Given the description of an element on the screen output the (x, y) to click on. 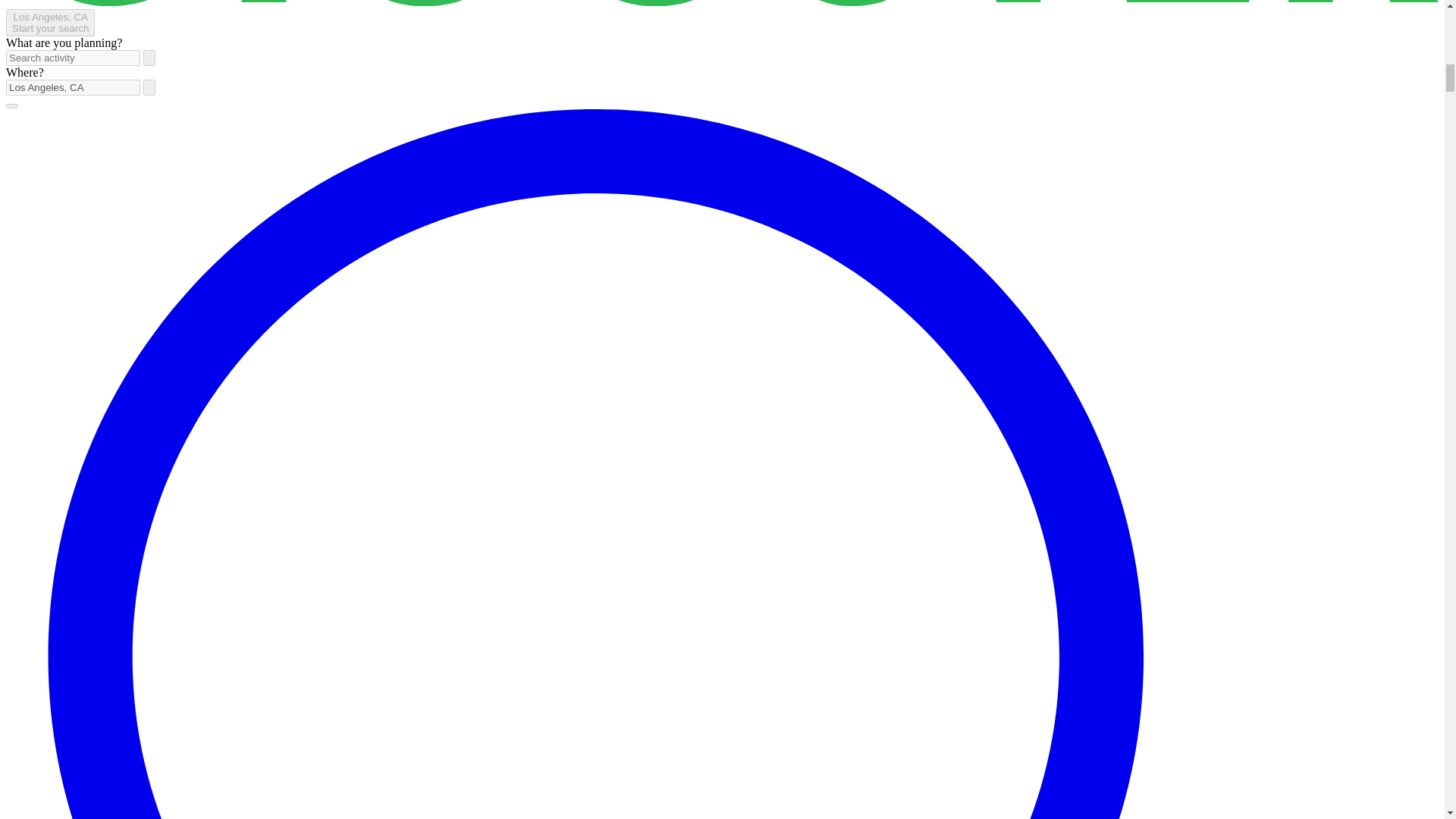
Los Angeles, CA (72, 87)
Los Angeles, CA (72, 87)
